Given the description of an element on the screen output the (x, y) to click on. 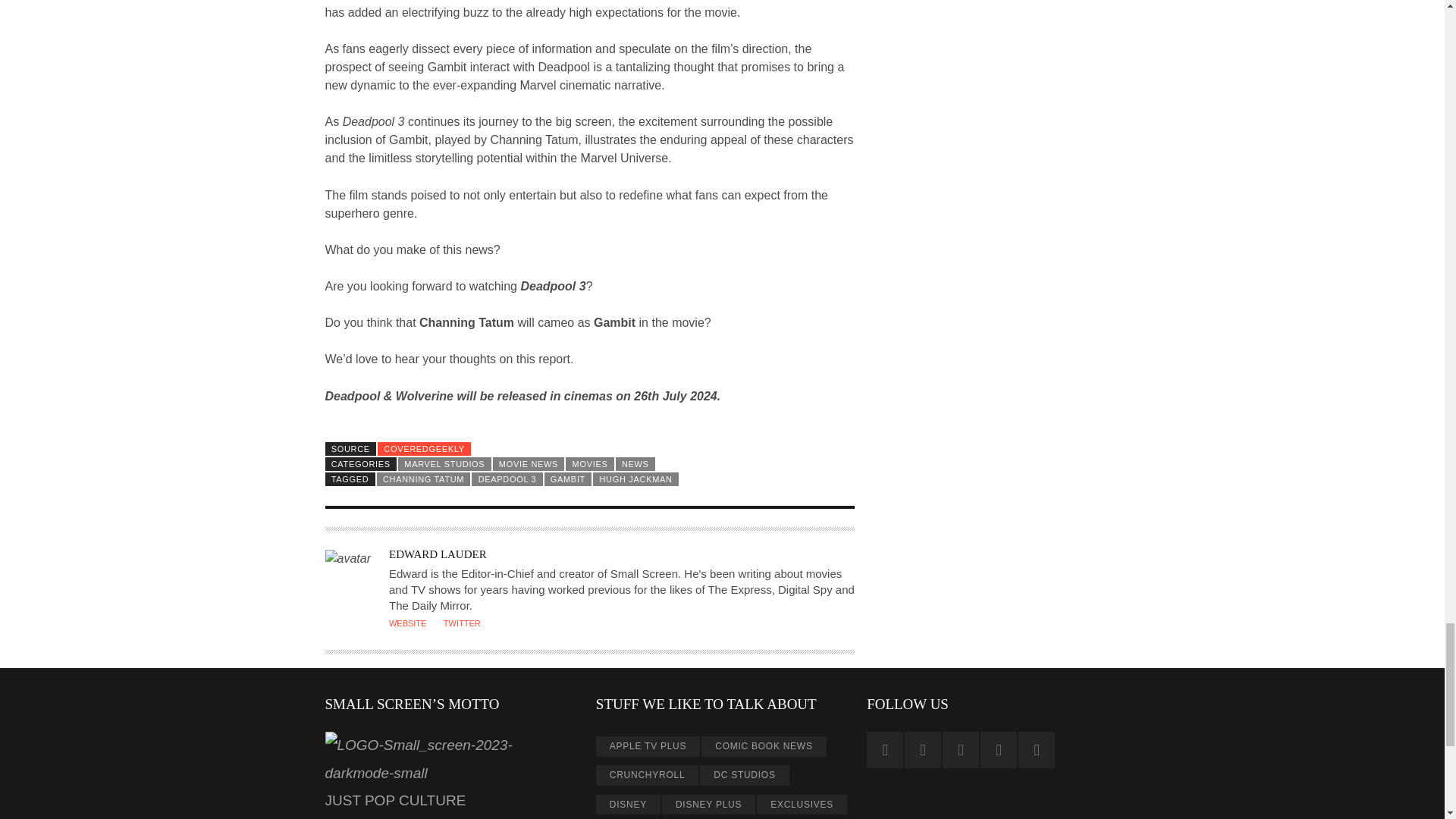
View all posts in NEWS (635, 463)
View all posts in MOVIES (589, 463)
Posts by Edward Lauder (437, 553)
View all posts in MOVIE NEWS (528, 463)
View all posts tagged Channing Tatum (423, 479)
View all posts tagged Deapdool 3 (506, 479)
View all posts tagged hugh jackman (635, 479)
View all posts in MARVEL STUDIOS (444, 463)
View all posts tagged Gambit (568, 479)
